Given the description of an element on the screen output the (x, y) to click on. 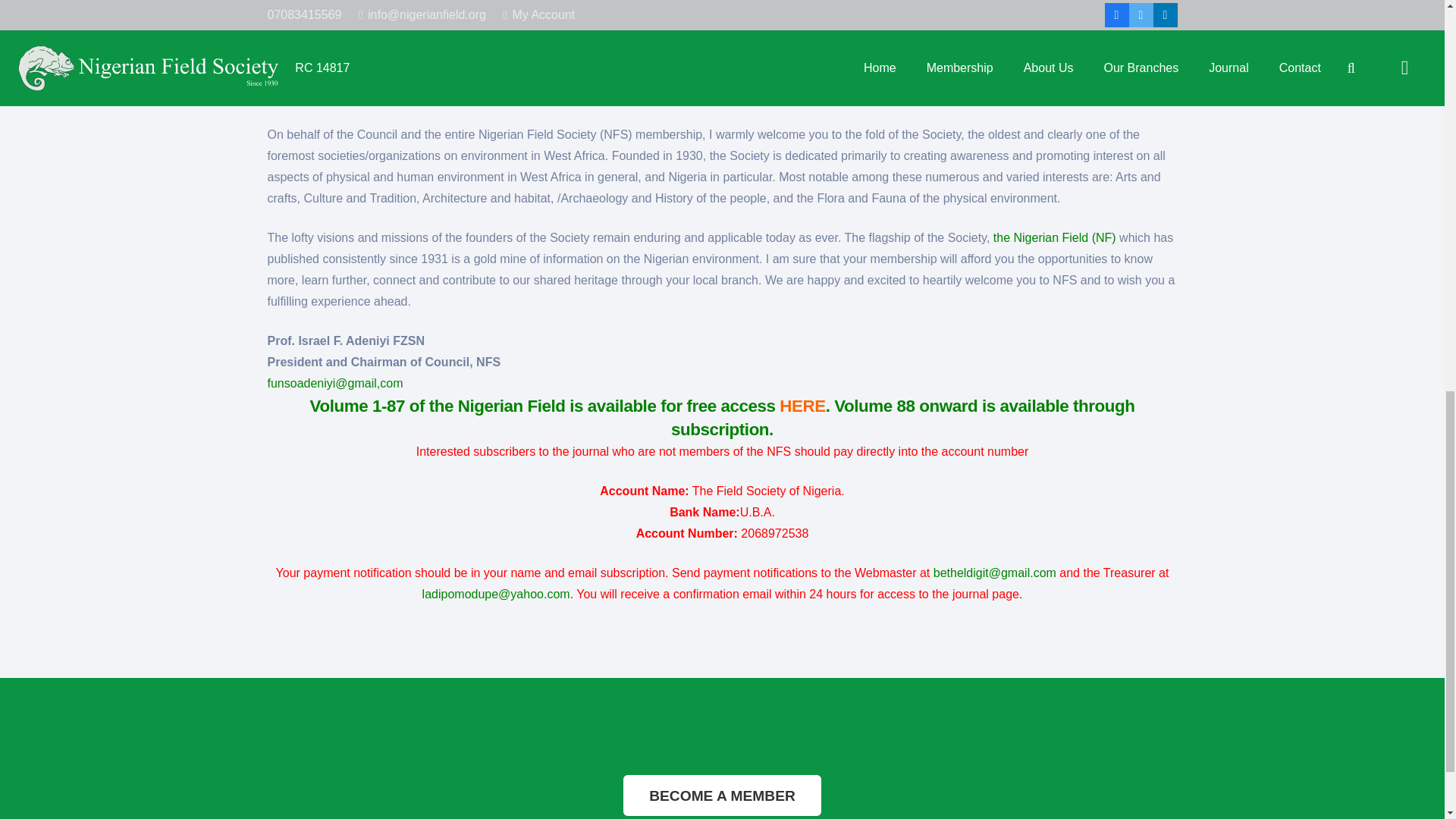
HERE (801, 405)
Back to top (1413, 30)
BECOME A MEMBER (722, 794)
